Given the description of an element on the screen output the (x, y) to click on. 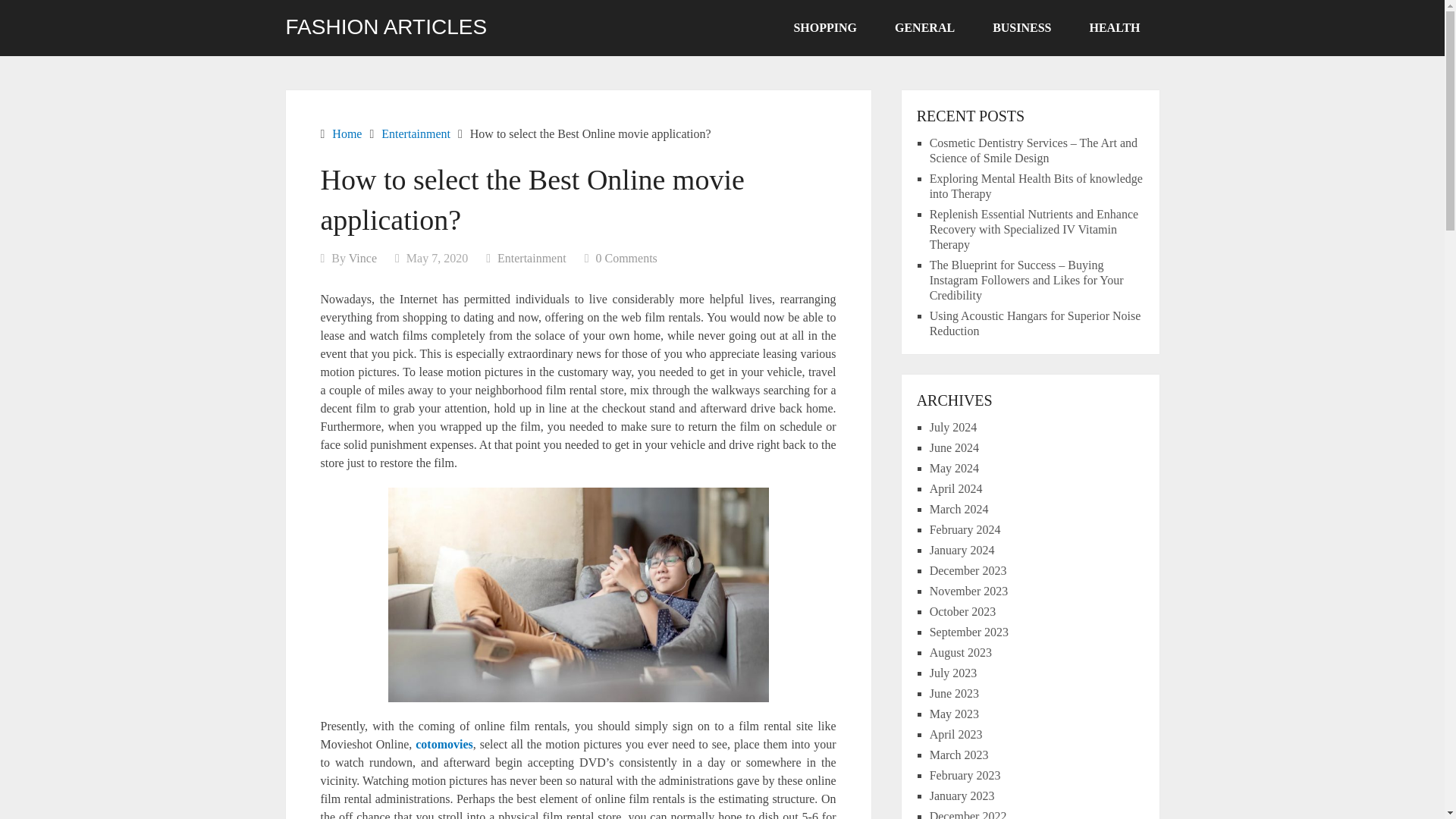
Entertainment (531, 257)
March 2023 (959, 754)
cotomovies (443, 744)
HEALTH (1114, 28)
July 2023 (953, 672)
SHOPPING (825, 28)
November 2023 (969, 590)
Entertainment (415, 133)
September 2023 (969, 631)
Using Acoustic Hangars for Superior Noise Reduction (1035, 323)
Home (346, 133)
0 Comments (625, 257)
June 2023 (954, 693)
August 2023 (960, 652)
Exploring Mental Health Bits of knowledge into Therapy (1036, 185)
